Given the description of an element on the screen output the (x, y) to click on. 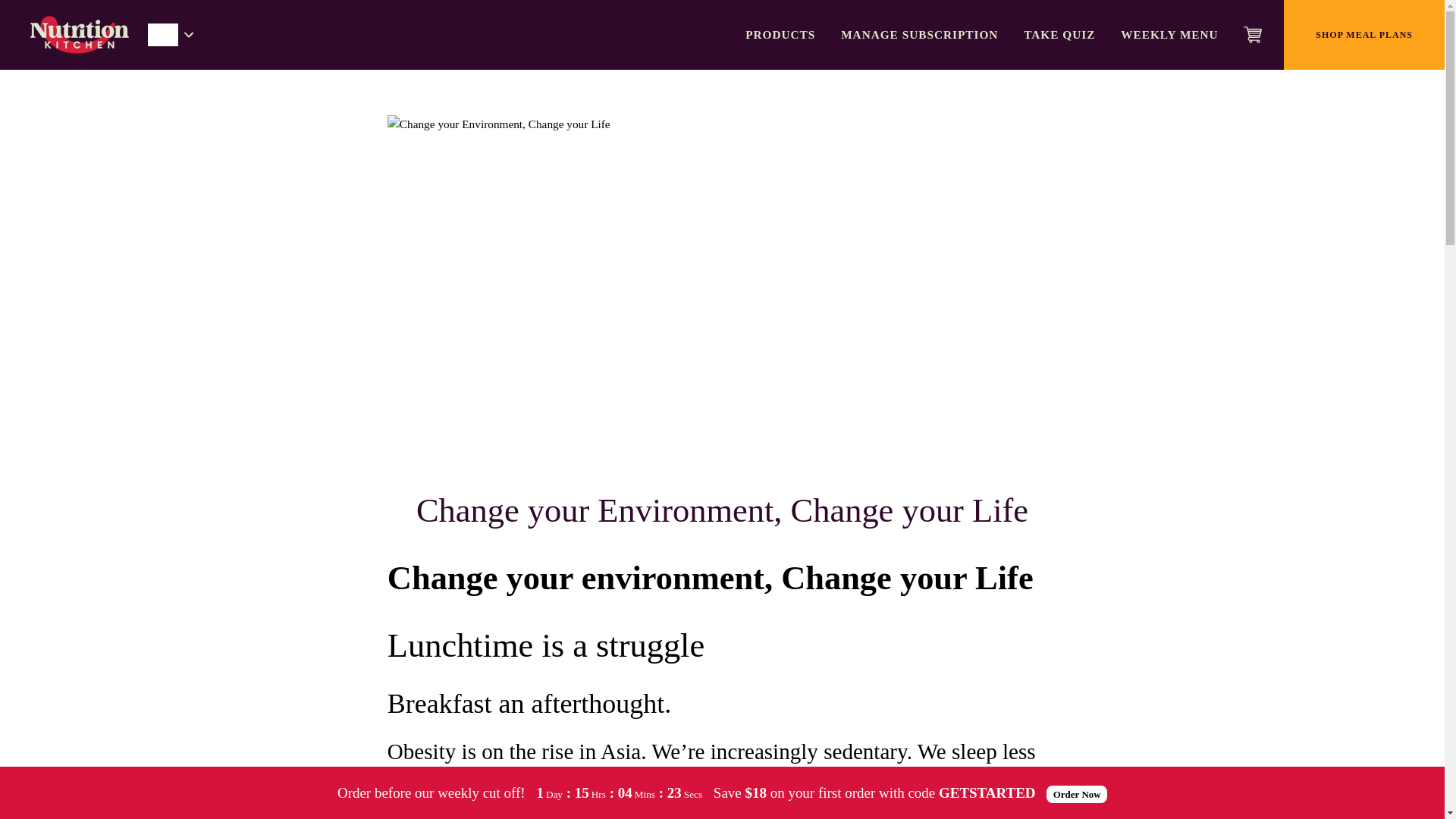
PRODUCTS (780, 34)
MANAGE SUBSCRIPTION (919, 34)
TAKE QUIZ (1058, 34)
SINGAPORE (164, 34)
WEEKLY MENU (1168, 34)
